Given the description of an element on the screen output the (x, y) to click on. 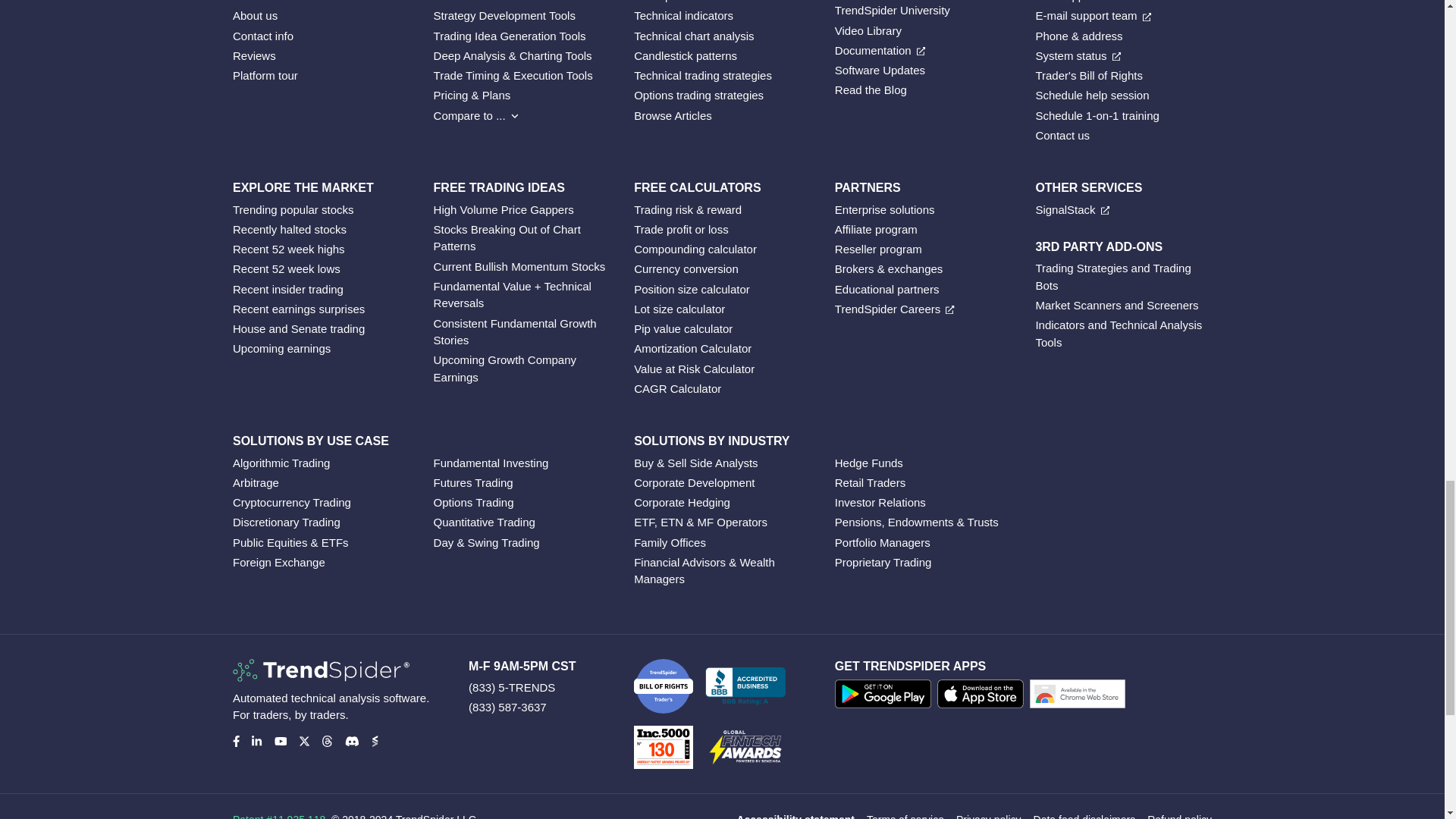
Get TrendSpider extension in Chrome Web Store (1080, 696)
X (304, 740)
YouTube (280, 740)
TrendSpider (320, 670)
Discord (350, 740)
Get TrendSpider App on Google Play (885, 696)
Get TrendSpider App on App Store (983, 696)
